Given the description of an element on the screen output the (x, y) to click on. 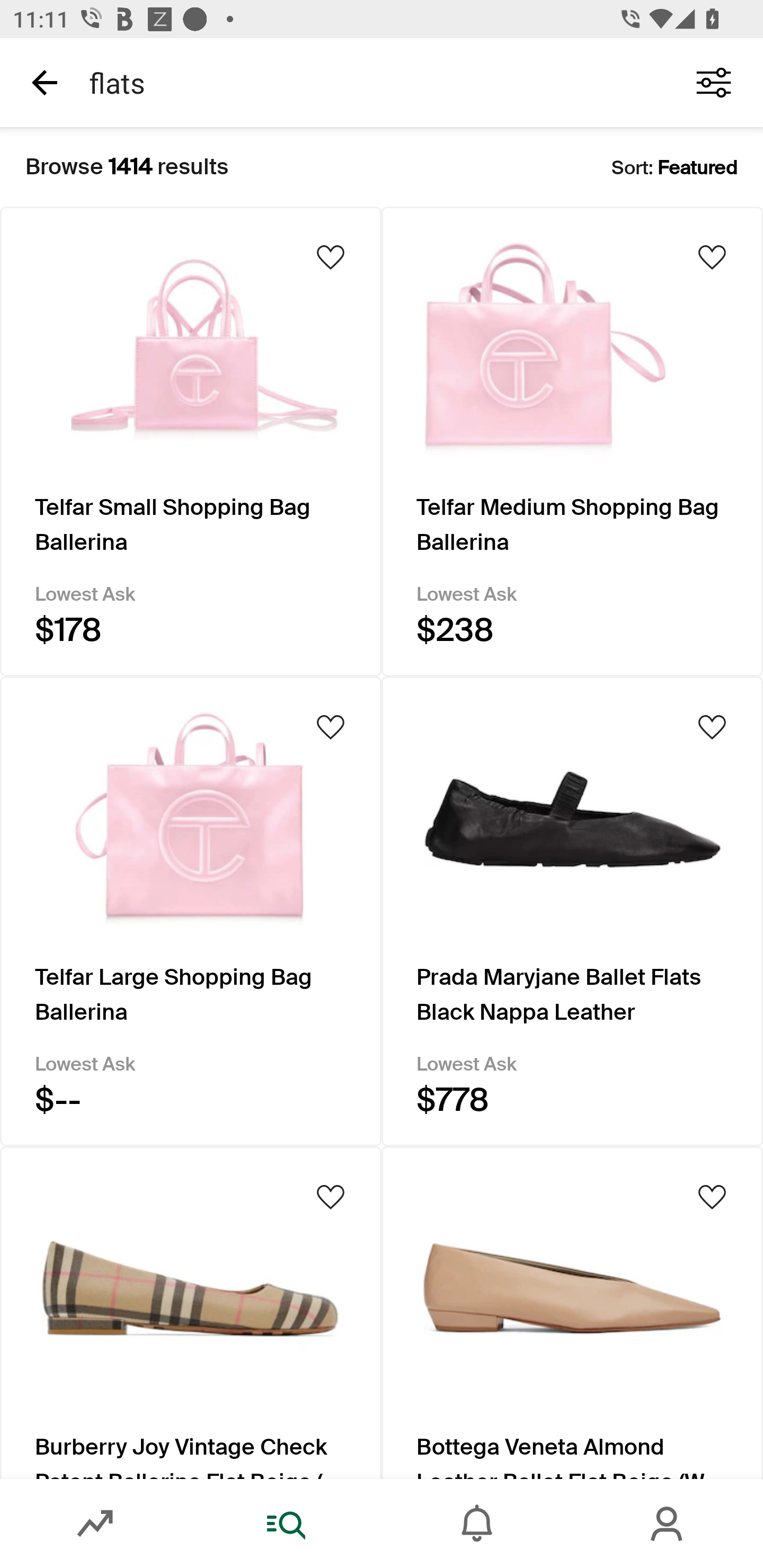
flats (370, 82)
Market (95, 1523)
Inbox (476, 1523)
Account (667, 1523)
